Given the description of an element on the screen output the (x, y) to click on. 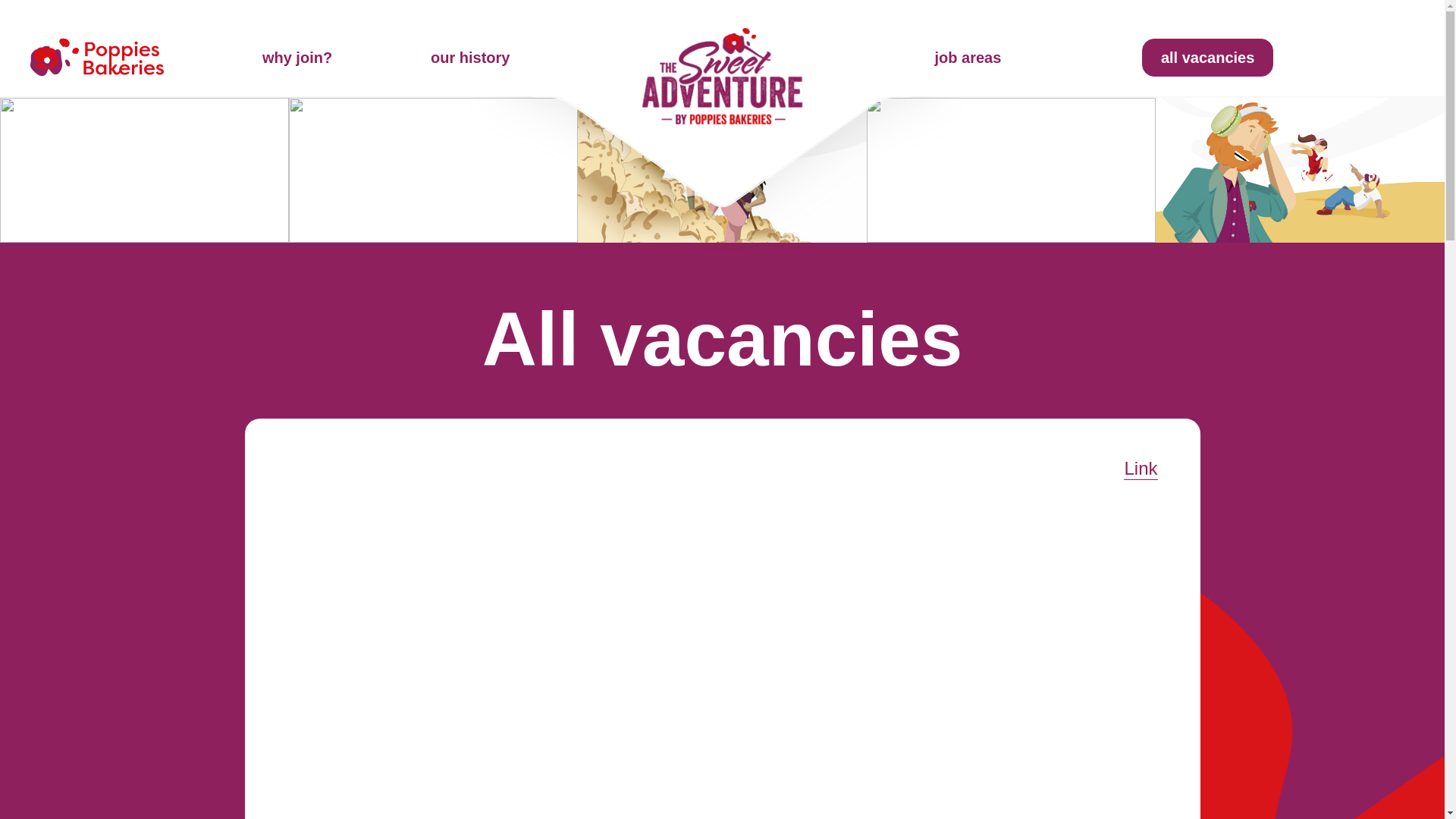
all vacancies (1206, 56)
job areas (967, 56)
our history (469, 56)
why join? (296, 56)
Link (1140, 467)
